Given the description of an element on the screen output the (x, y) to click on. 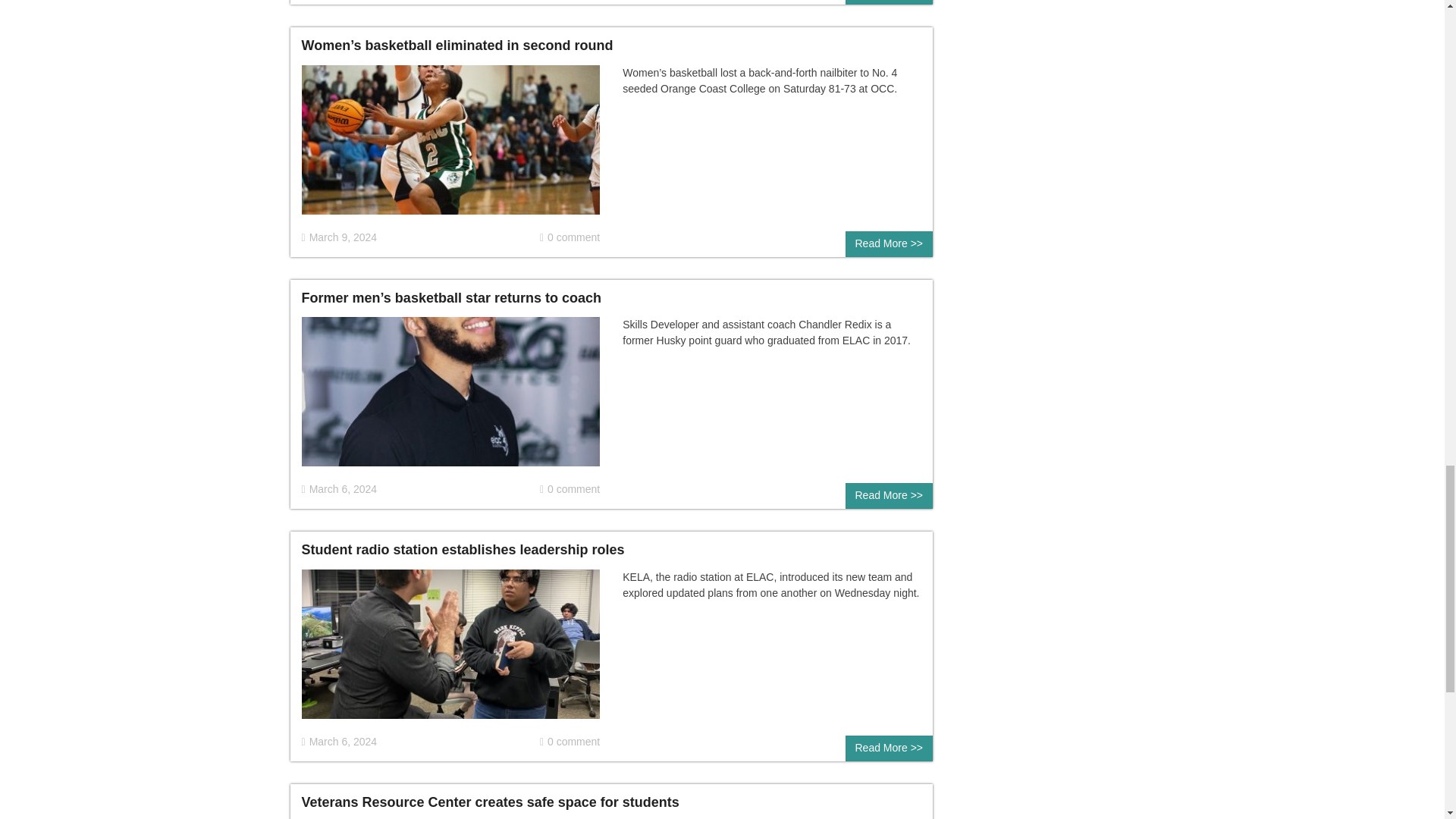
Student radio station establishes leadership roles (450, 650)
